Given the description of an element on the screen output the (x, y) to click on. 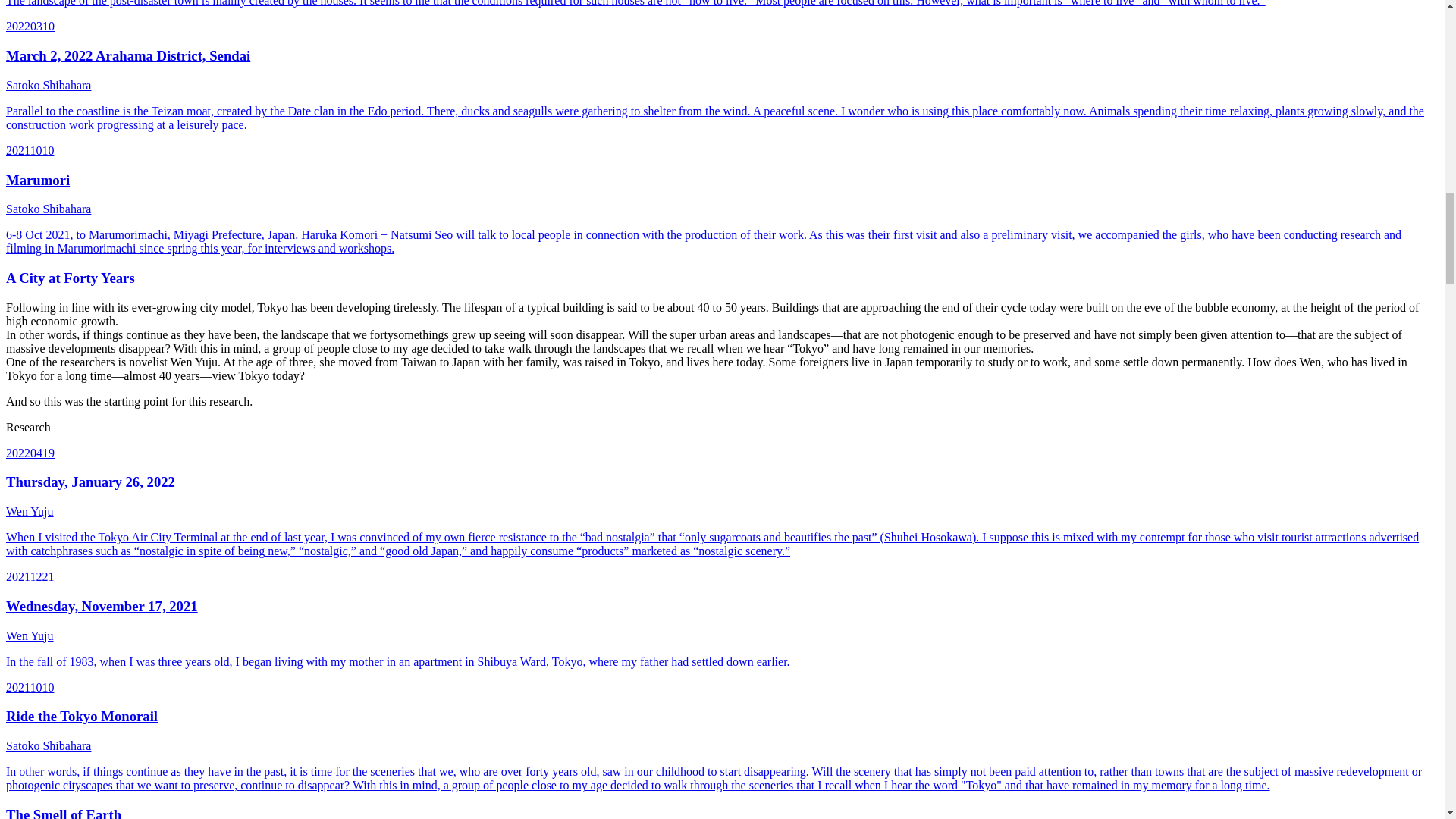
A City at Forty Years (70, 277)
The Smell of Earth (62, 812)
